Given the description of an element on the screen output the (x, y) to click on. 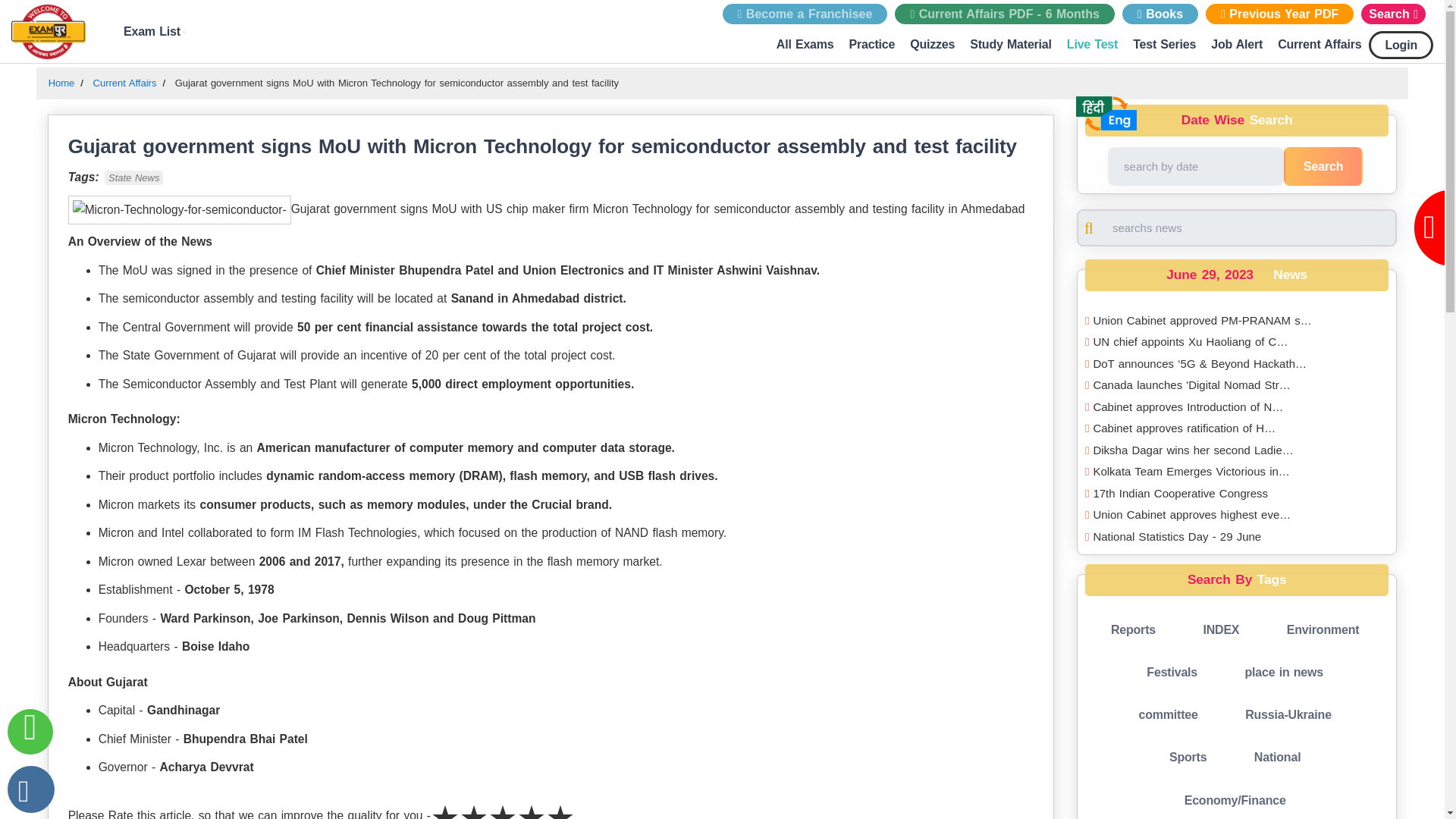
Give 1 star (445, 806)
Give 4 stars (531, 806)
Give 3 stars (501, 806)
Give 2 stars (473, 806)
Give 5 stars (560, 806)
